Given the description of an element on the screen output the (x, y) to click on. 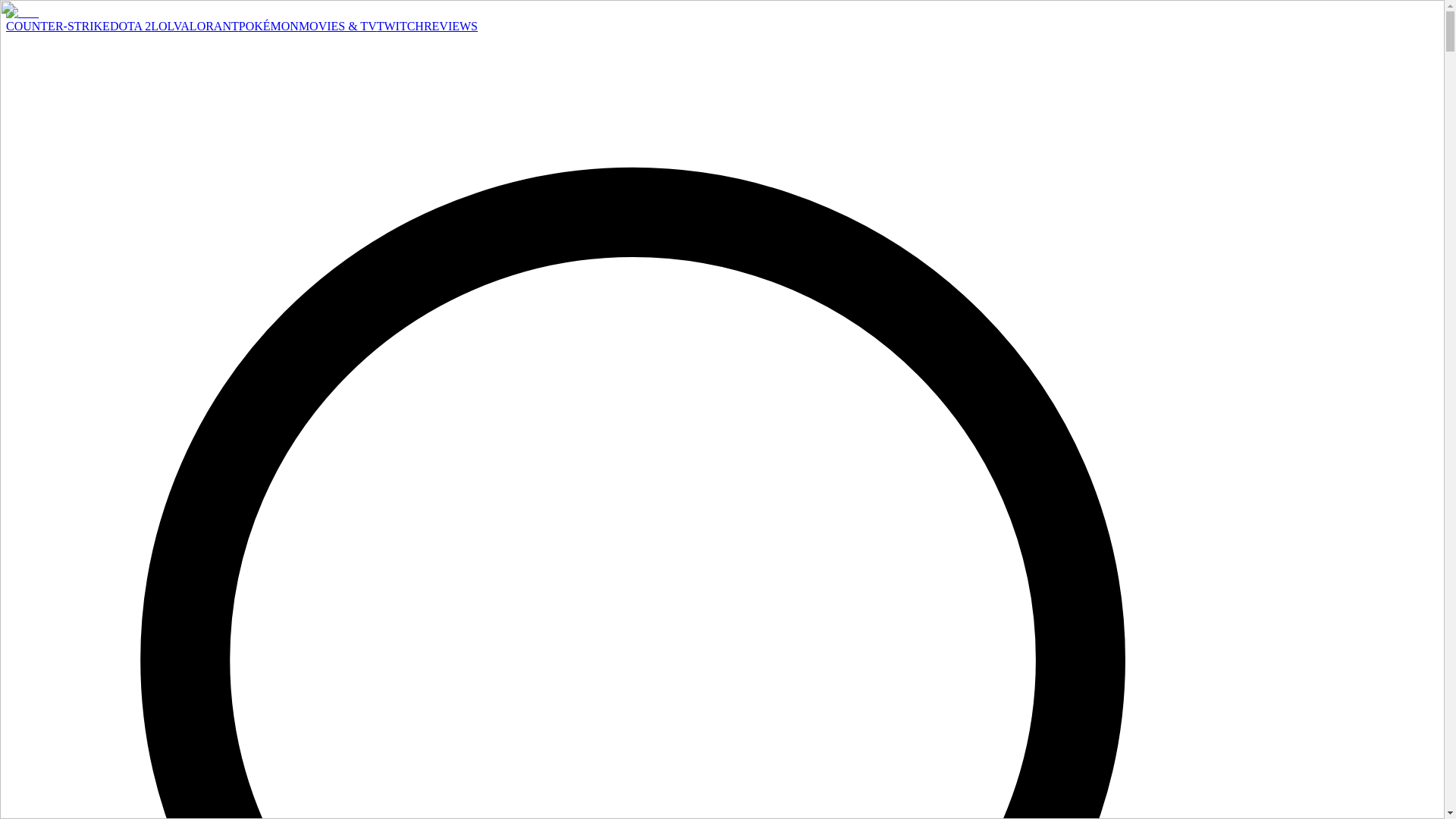
DOTA 2 (130, 25)
TWITCH (400, 25)
LOL (162, 25)
REVIEWS (450, 25)
COUNTER-STRIKE (57, 25)
VALORANT (205, 25)
